Given the description of an element on the screen output the (x, y) to click on. 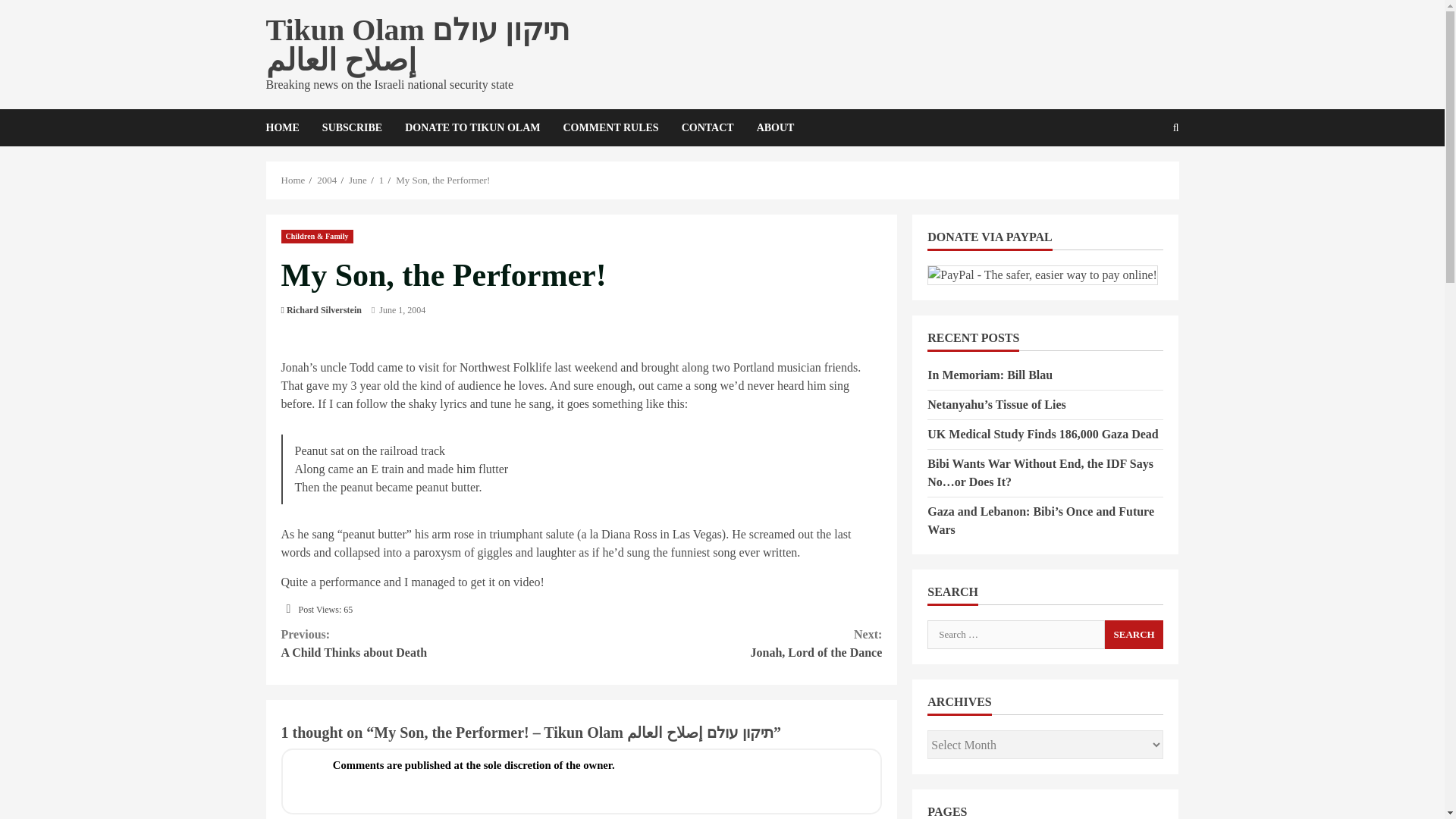
DONATE TO TIKUN OLAM (472, 127)
June (357, 179)
Home (292, 179)
Search (430, 643)
Search (1139, 179)
HOME (1134, 634)
Search (287, 127)
SUBSCRIBE (1134, 634)
In Memoriam: Bill Blau (352, 127)
